Given the description of an element on the screen output the (x, y) to click on. 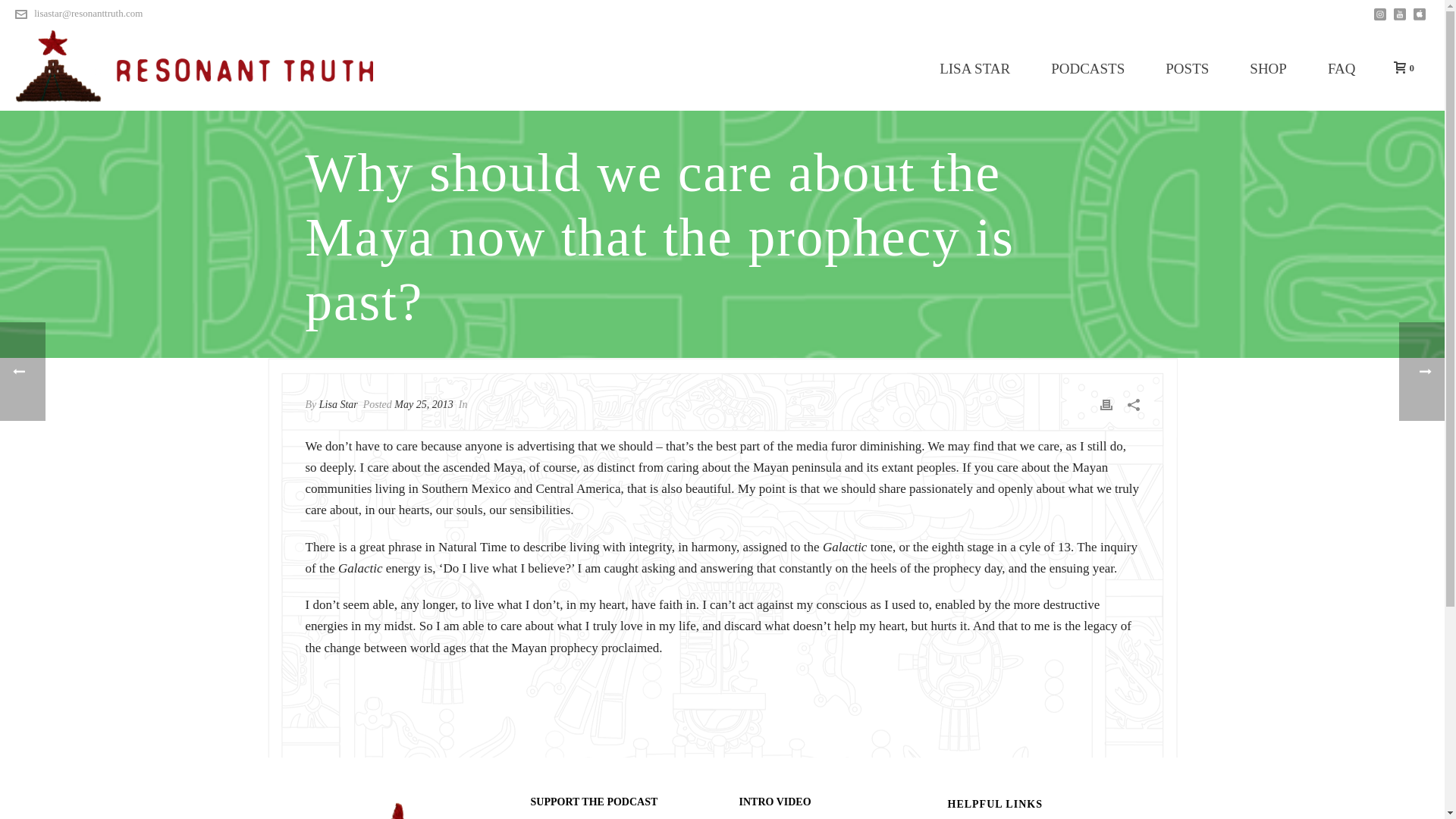
PODCASTS (1087, 68)
0 (1400, 67)
POSTS (1186, 68)
POSTS (1186, 68)
SHOP (1267, 68)
Posts by Lisa Star (338, 404)
PODCASTS (1087, 68)
SHOP (1267, 68)
FAQ (1341, 68)
LISA STAR (974, 68)
LISA STAR (974, 68)
Mayan Astrology (193, 67)
FAQ (1341, 68)
